Given the description of an element on the screen output the (x, y) to click on. 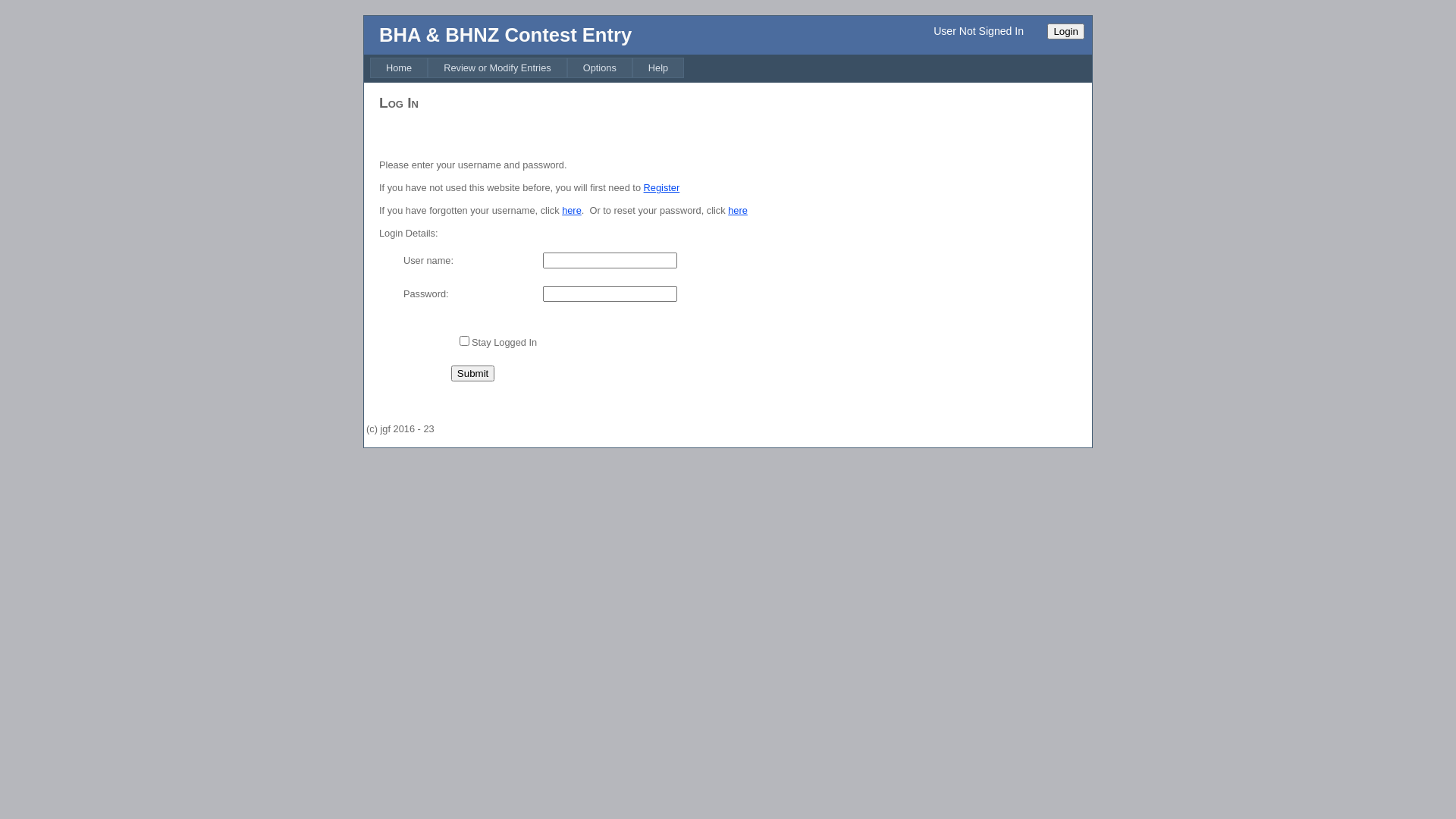
Login Element type: text (1065, 31)
here Element type: text (571, 210)
Submit Element type: text (472, 373)
Options Element type: text (599, 67)
Register Element type: text (661, 187)
Home Element type: text (398, 67)
Help Element type: text (658, 67)
here Element type: text (737, 210)
Review or Modify Entries Element type: text (497, 67)
